Given the description of an element on the screen output the (x, y) to click on. 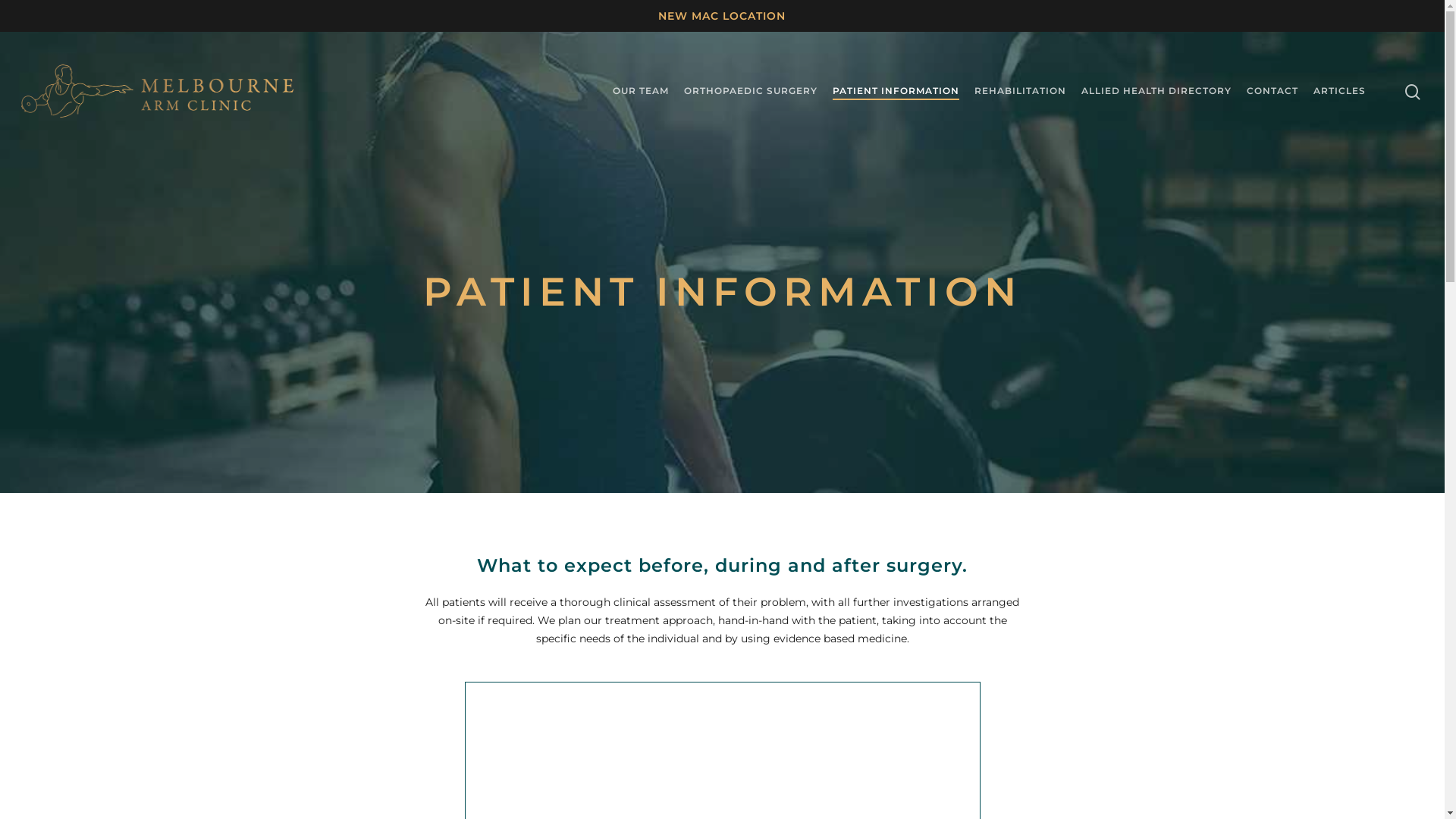
CONTACT Element type: text (1272, 90)
OUR TEAM Element type: text (640, 90)
ORTHOPAEDIC SURGERY Element type: text (750, 90)
ALLIED HEALTH DIRECTORY Element type: text (1156, 90)
ARTICLES Element type: text (1339, 90)
PATIENT INFORMATION Element type: text (895, 90)
search Element type: text (1414, 91)
REHABILITATION Element type: text (1020, 90)
NEW MAC LOCATION Element type: text (721, 15)
